Given the description of an element on the screen output the (x, y) to click on. 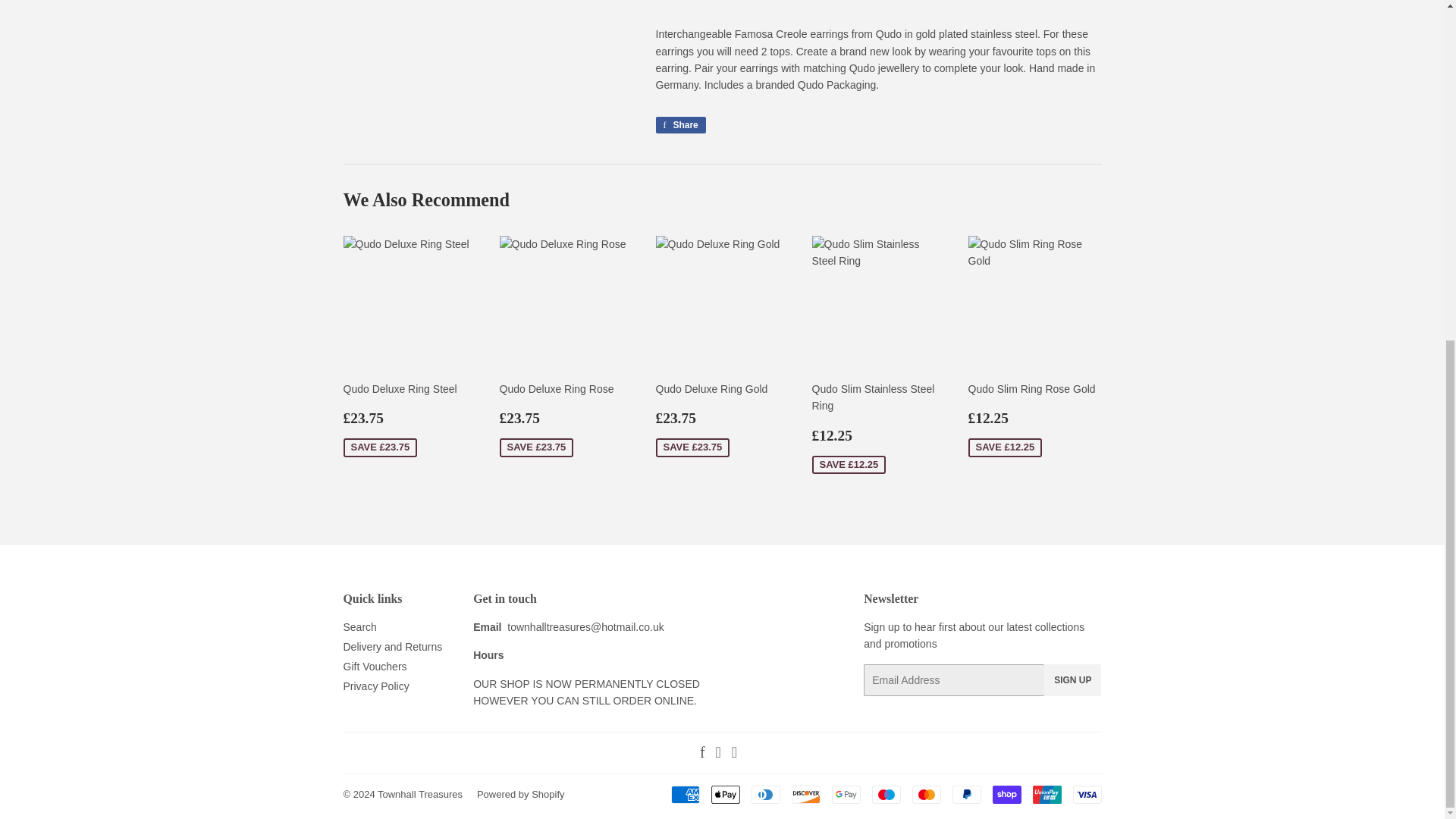
Shop Pay (1005, 794)
Share on Facebook (679, 125)
Mastercard (925, 794)
Discover (806, 794)
PayPal (966, 794)
Union Pay (1046, 794)
Google Pay (845, 794)
Diners Club (764, 794)
American Express (683, 794)
Apple Pay (725, 794)
Visa (1085, 794)
Maestro (886, 794)
